Given the description of an element on the screen output the (x, y) to click on. 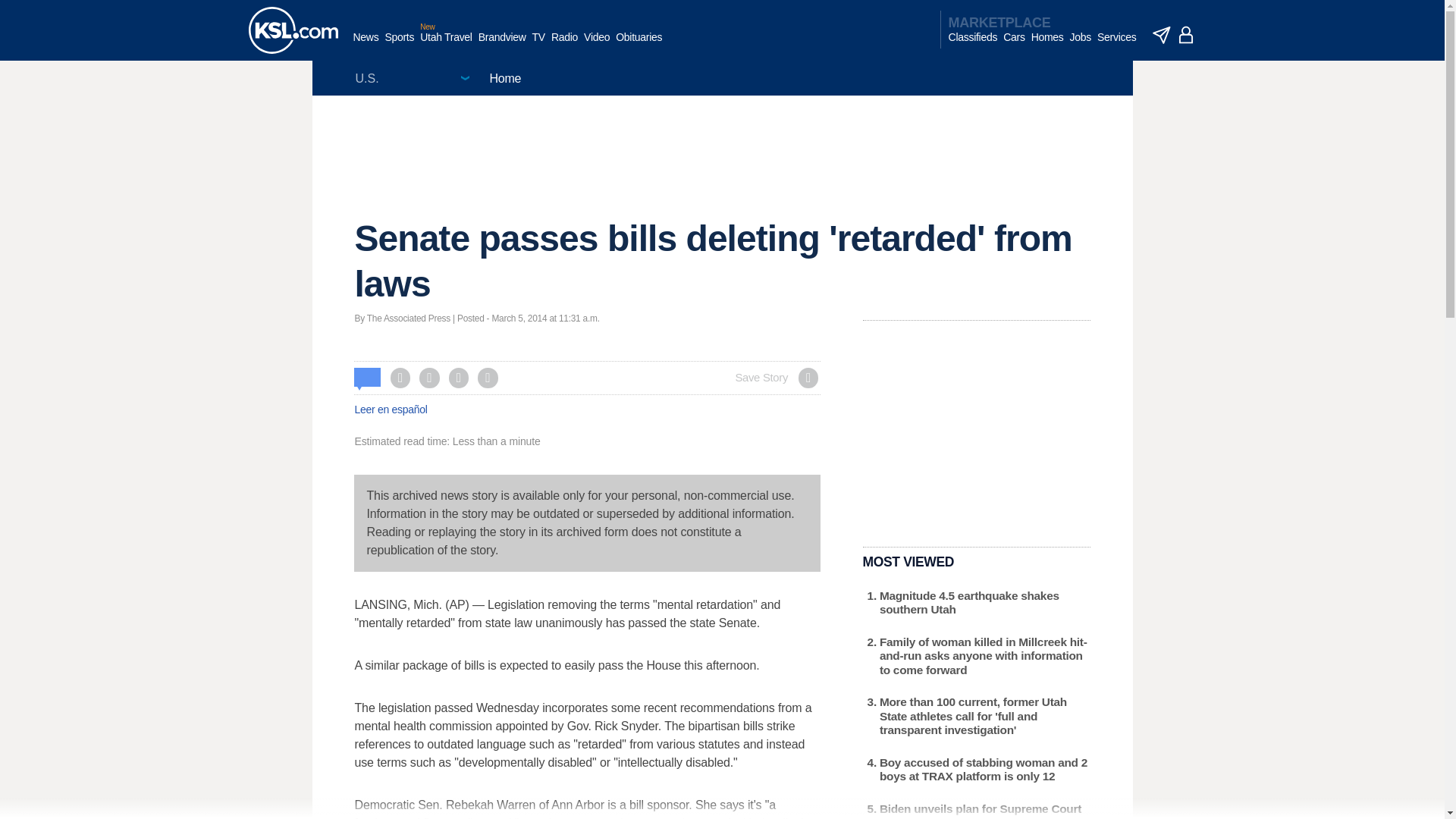
Sports (398, 45)
KSL homepage (292, 30)
Utah Travel (445, 45)
account - logged out (1185, 34)
Brandview (502, 45)
KSL homepage (292, 29)
